Given the description of an element on the screen output the (x, y) to click on. 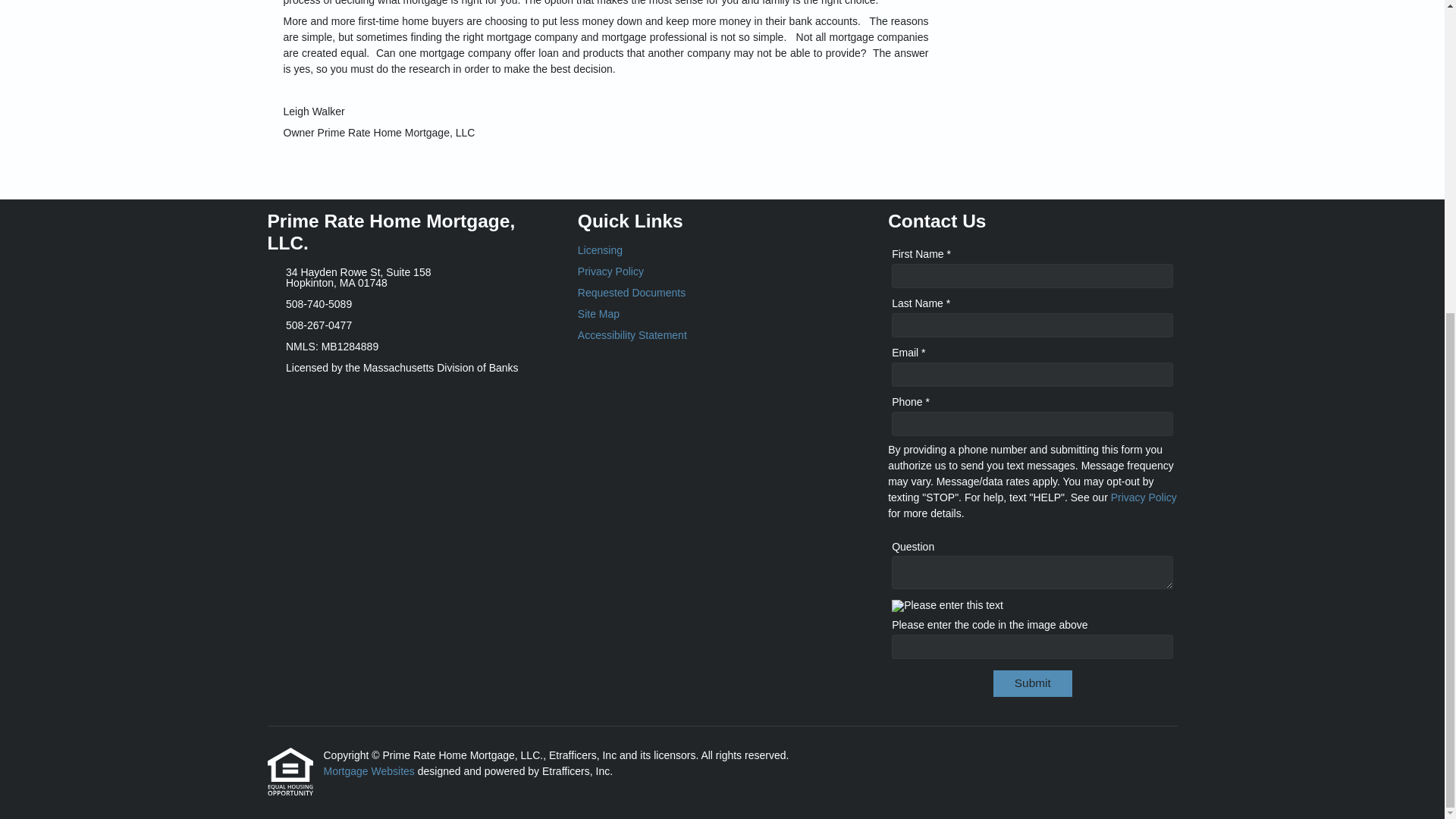
Site Map (722, 313)
Mortgage Websites (368, 770)
Accessibility Statement (722, 335)
Privacy Policy (1143, 497)
Licensing (722, 249)
Requested Documents (722, 292)
Submit (1031, 683)
Privacy Policy (722, 271)
